Given the description of an element on the screen output the (x, y) to click on. 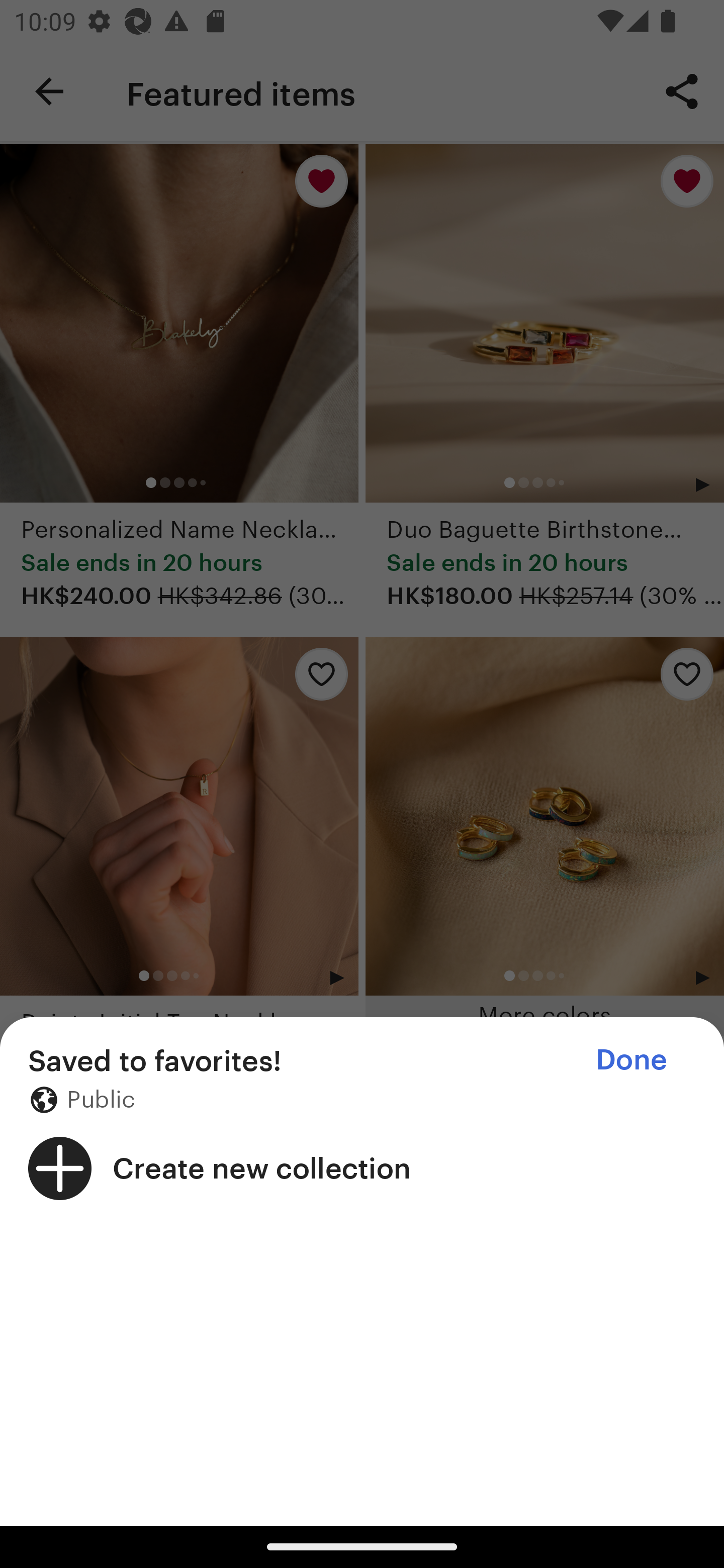
Done (630, 1059)
Create new collection (361, 1167)
